Given the description of an element on the screen output the (x, y) to click on. 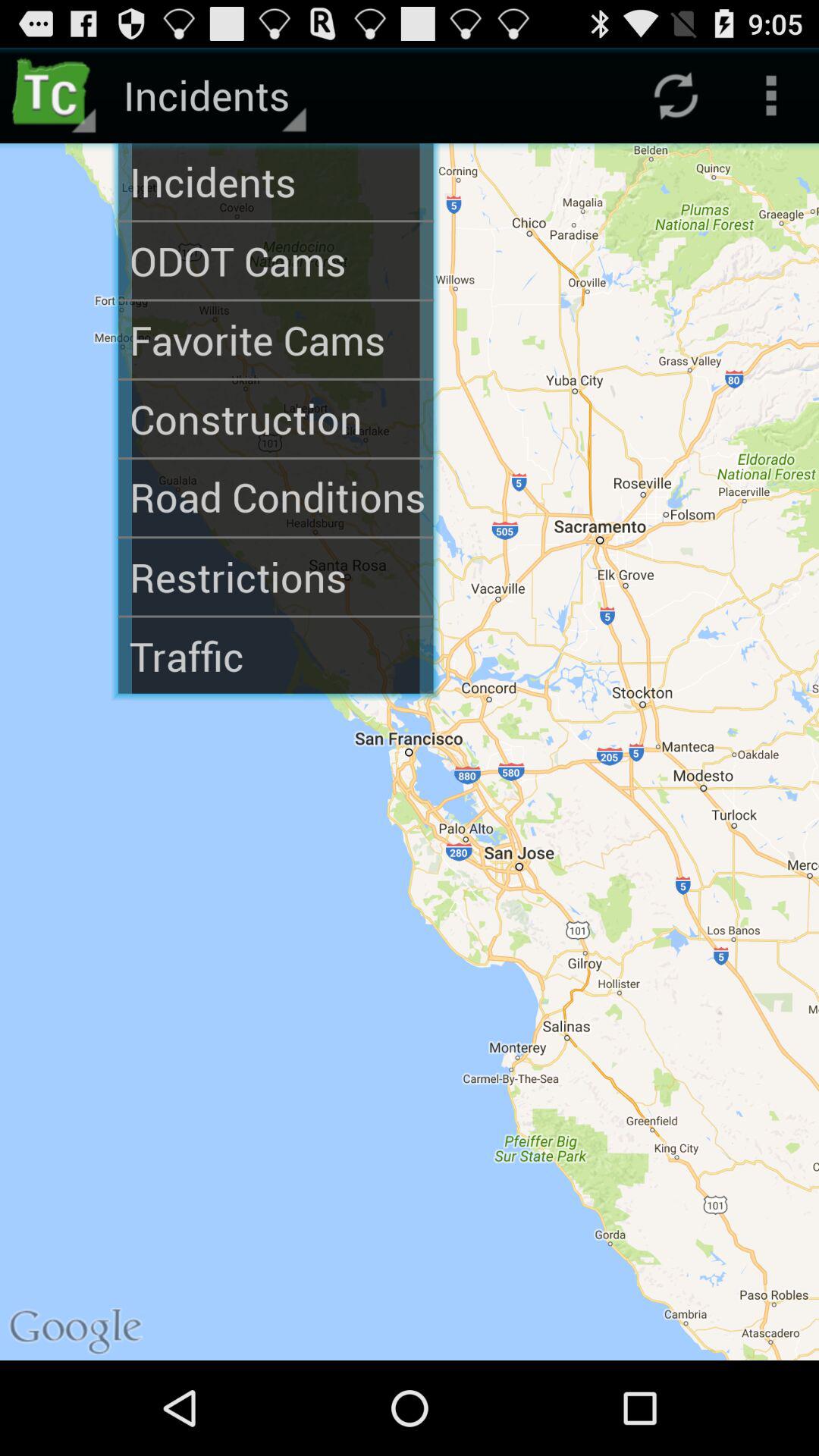
select the restrictions icon (275, 576)
